Given the description of an element on the screen output the (x, y) to click on. 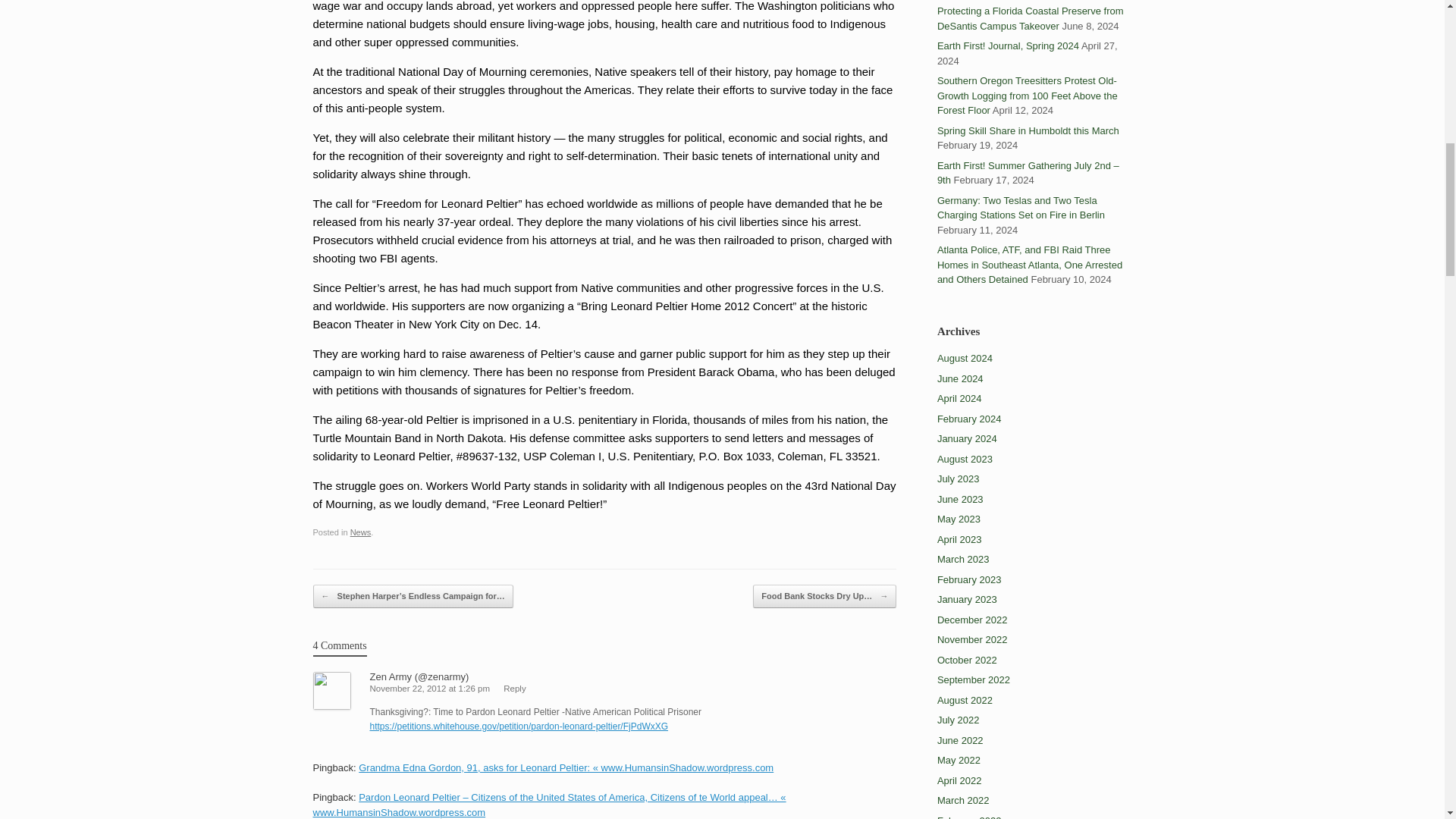
Reply (514, 687)
News (360, 532)
November 22, 2012 at 1:26 pm (429, 687)
